Given the description of an element on the screen output the (x, y) to click on. 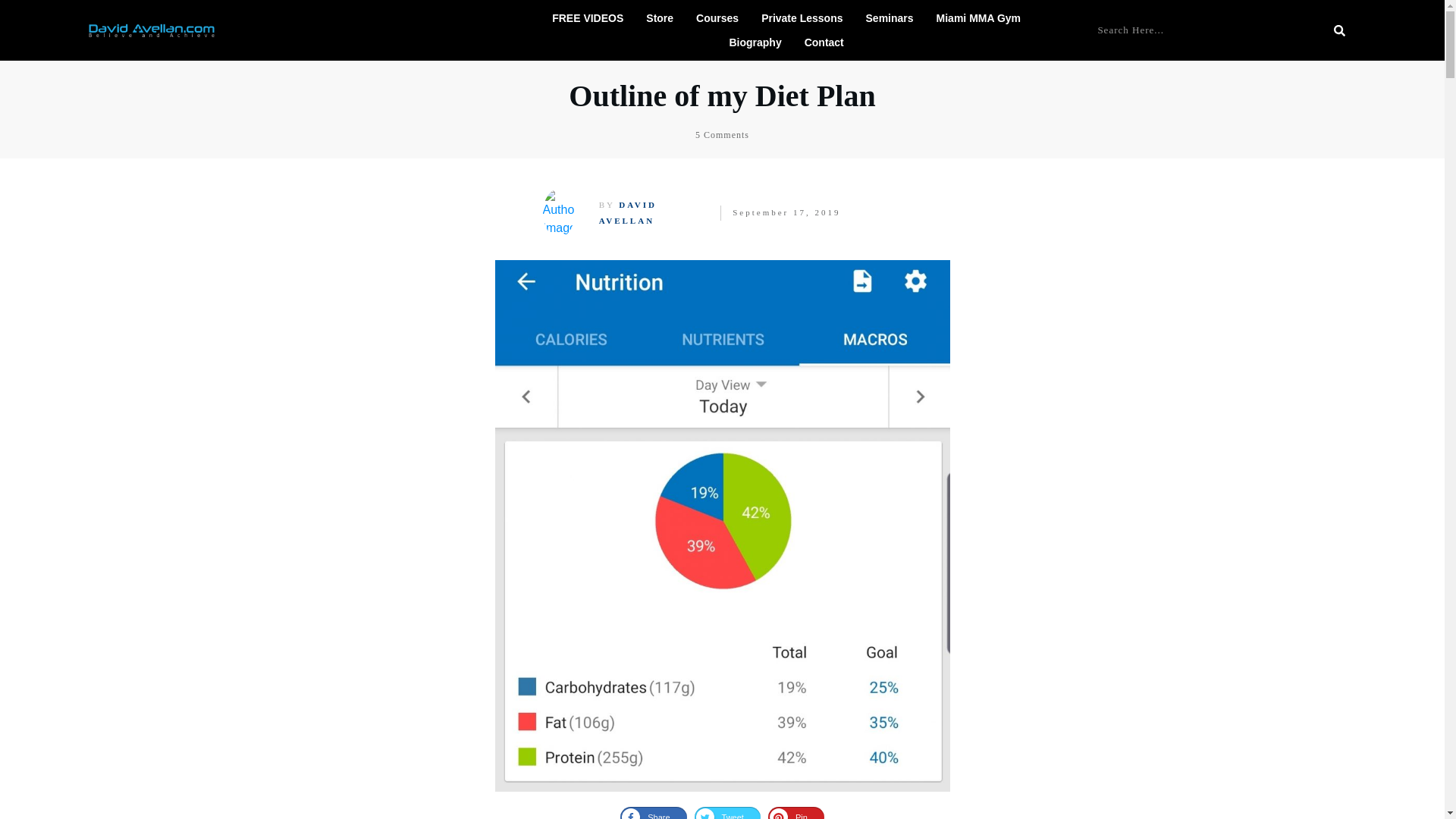
DAVID AVELLAN (627, 212)
Miami MMA Gym (979, 17)
Outline of my Diet Plan (722, 95)
Seminars (890, 17)
Courses (716, 17)
Private Lessons (802, 17)
Tweet (727, 812)
Share (652, 812)
Outline of my Diet Plan (722, 95)
Pin (796, 812)
